Given the description of an element on the screen output the (x, y) to click on. 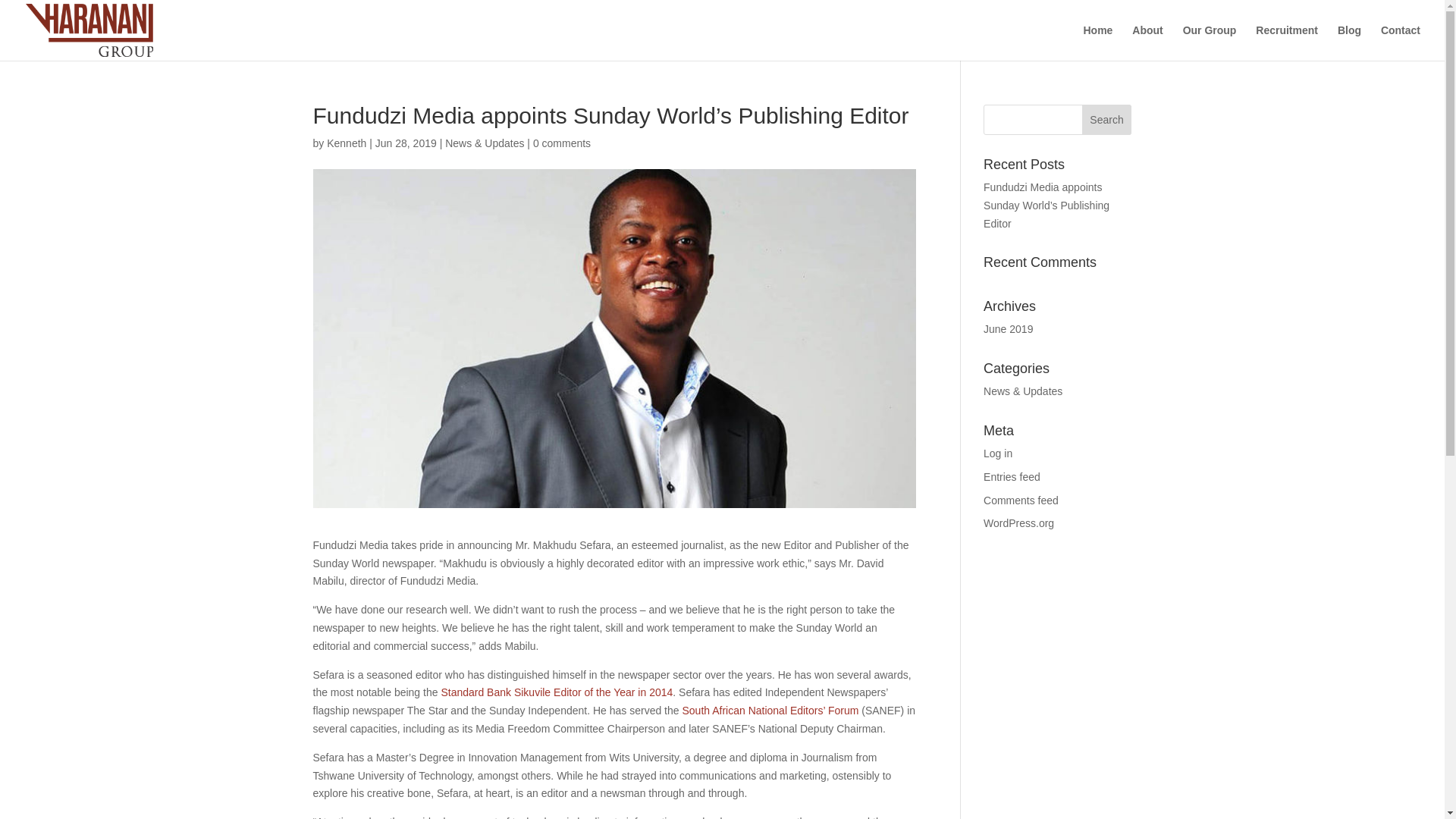
Contact (1400, 42)
Log in (997, 453)
Our Group (1209, 42)
WordPress.org (1019, 522)
0 comments (561, 143)
Kenneth (346, 143)
Search (1106, 119)
Recruitment (1286, 42)
Entries feed (1012, 476)
Posts by Kenneth (346, 143)
